Given the description of an element on the screen output the (x, y) to click on. 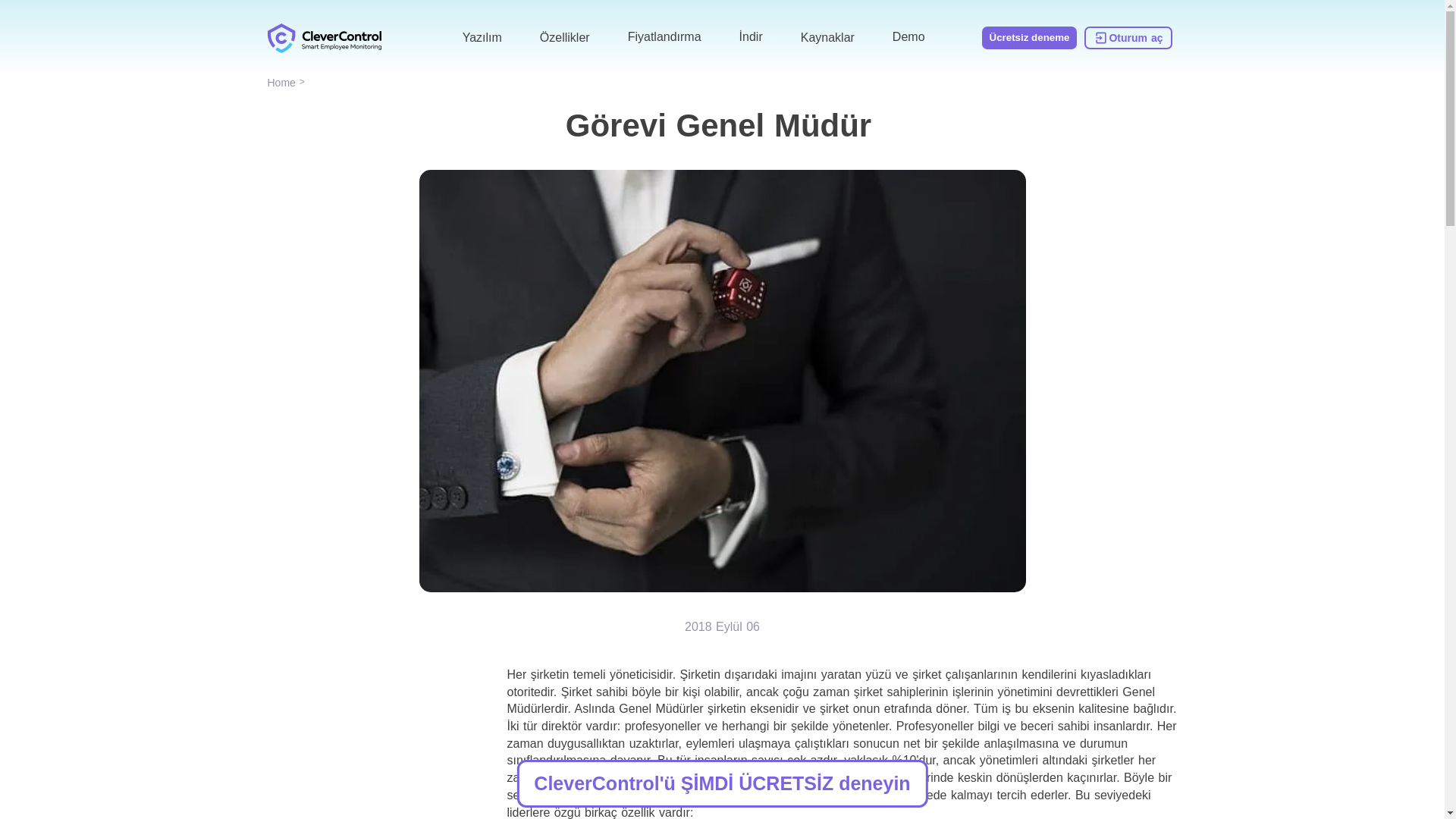
Home (280, 84)
